Given the description of an element on the screen output the (x, y) to click on. 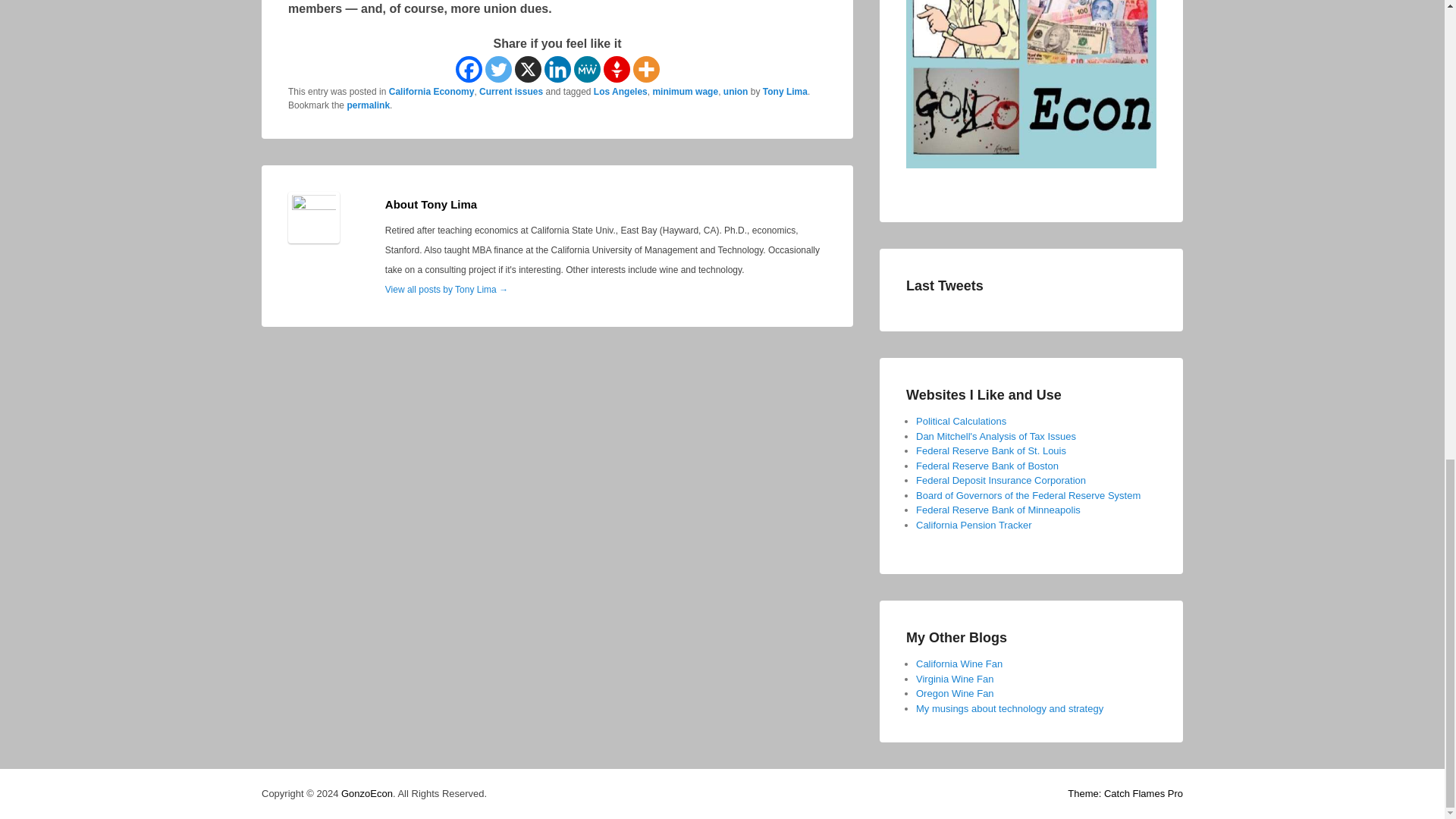
X (526, 69)
More (645, 69)
Current issues (511, 91)
Twitter (498, 69)
MeWe (586, 69)
California Economy (431, 91)
Facebook (467, 69)
Gettr (617, 69)
Linkedin (557, 69)
